Given the description of an element on the screen output the (x, y) to click on. 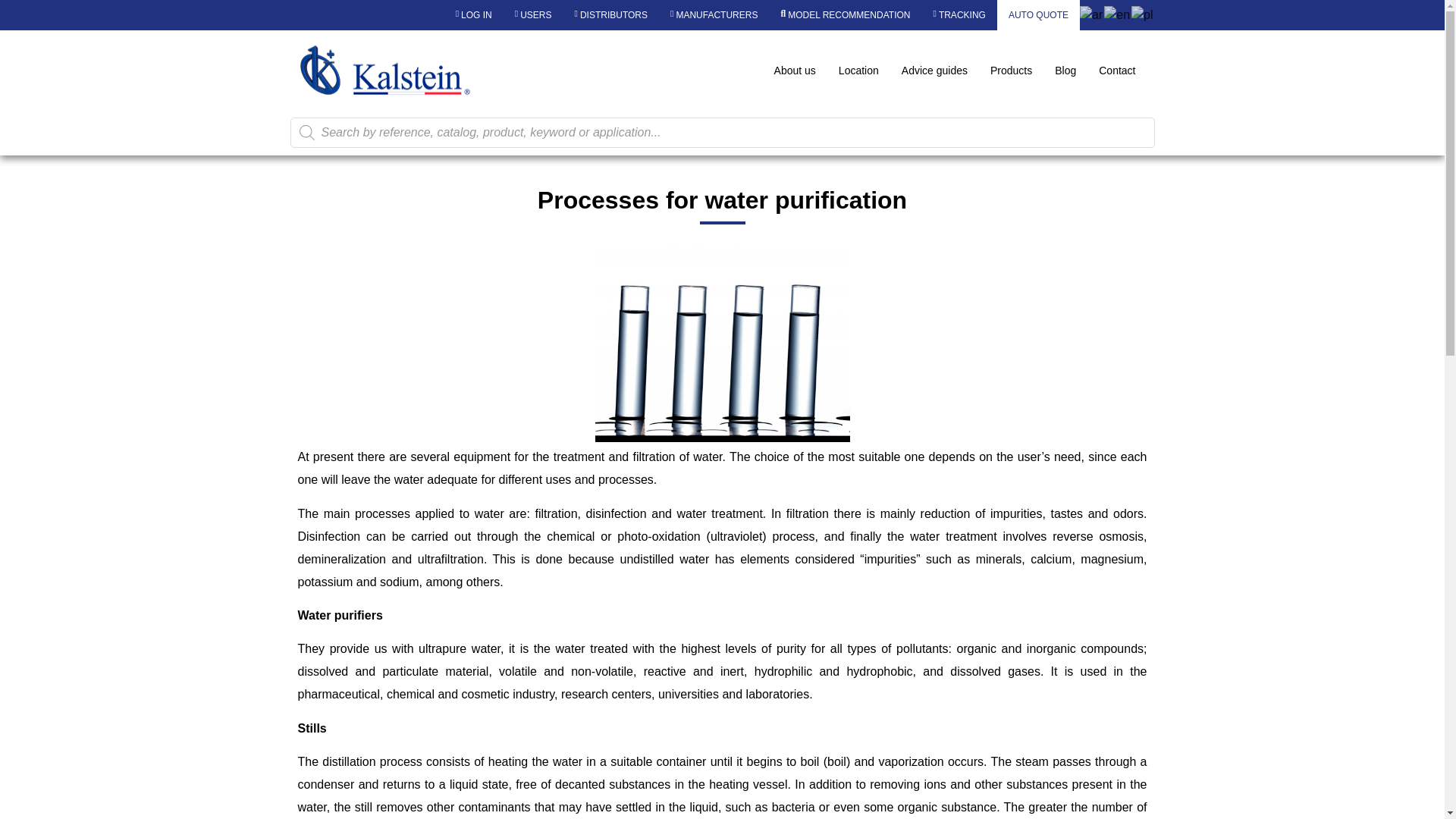
TRACKING (958, 15)
DISTRIBUTORS (611, 15)
Arabic (1091, 14)
AUTO QUOTE (1038, 15)
About us (794, 69)
MANUFACTURERS (713, 15)
Location (858, 69)
Polish (1142, 14)
English (1117, 14)
MODEL RECOMMENDATION (844, 15)
